Given the description of an element on the screen output the (x, y) to click on. 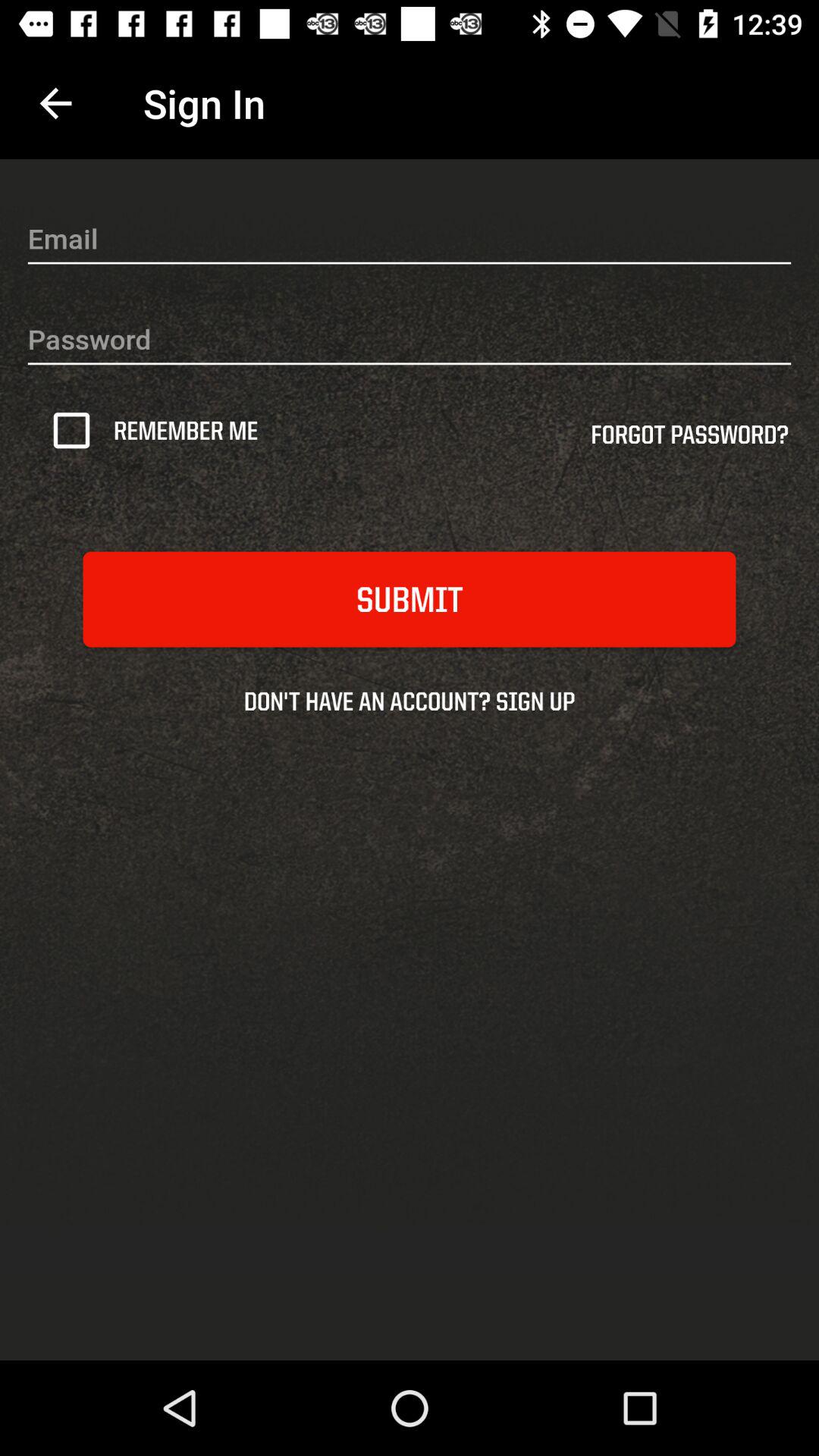
select the forgot password? (689, 439)
